Given the description of an element on the screen output the (x, y) to click on. 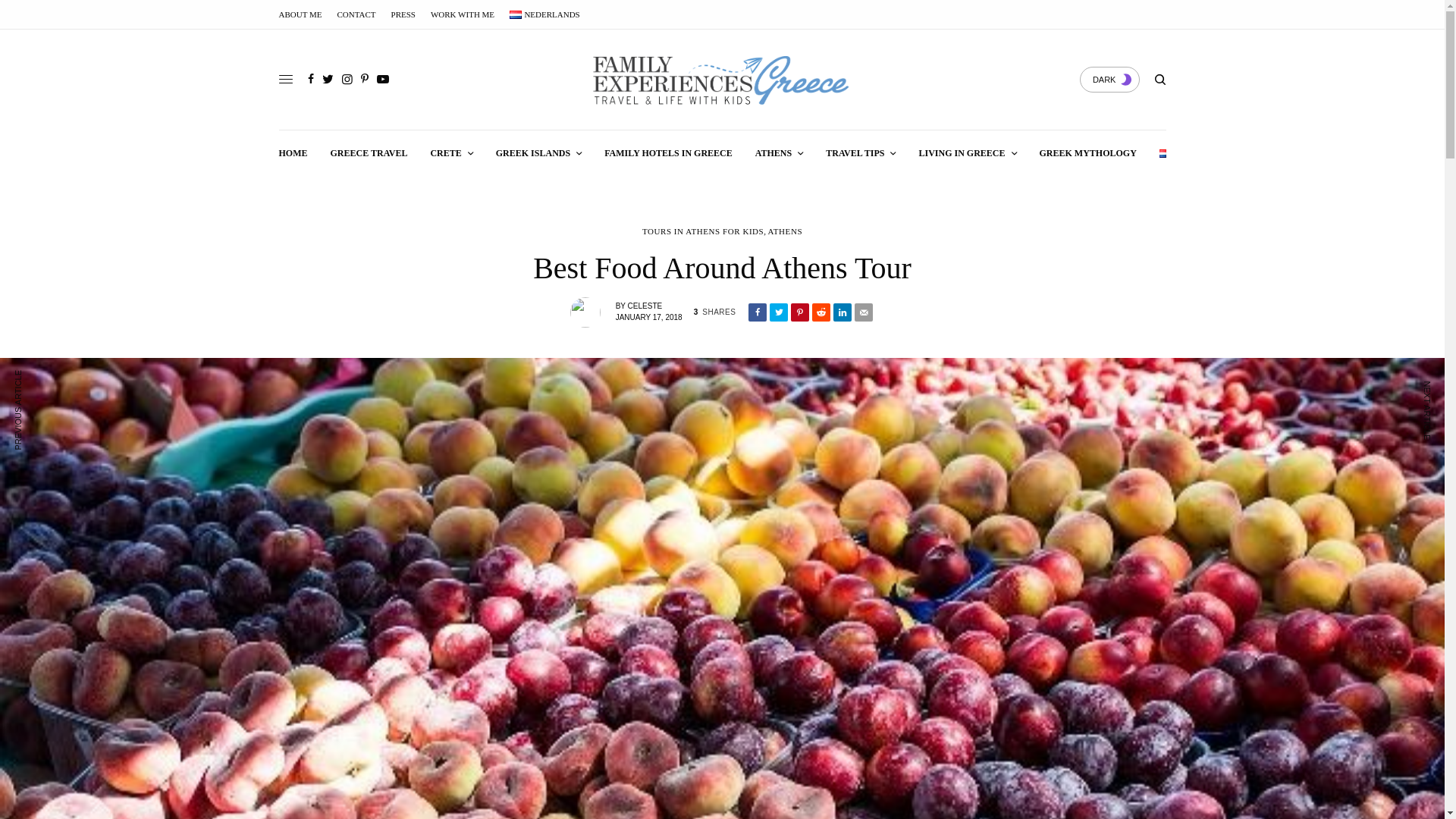
TRAVEL TIPS (860, 153)
GREEK ISLANDS (538, 153)
ATHENS (779, 153)
ABOUT ME (300, 14)
WORK WITH ME (462, 14)
NEDERLANDS (544, 14)
GREECE TRAVEL (368, 153)
FAMILY HOTELS IN GREECE (668, 153)
CONTACT (355, 14)
CRETE (450, 153)
